Given the description of an element on the screen output the (x, y) to click on. 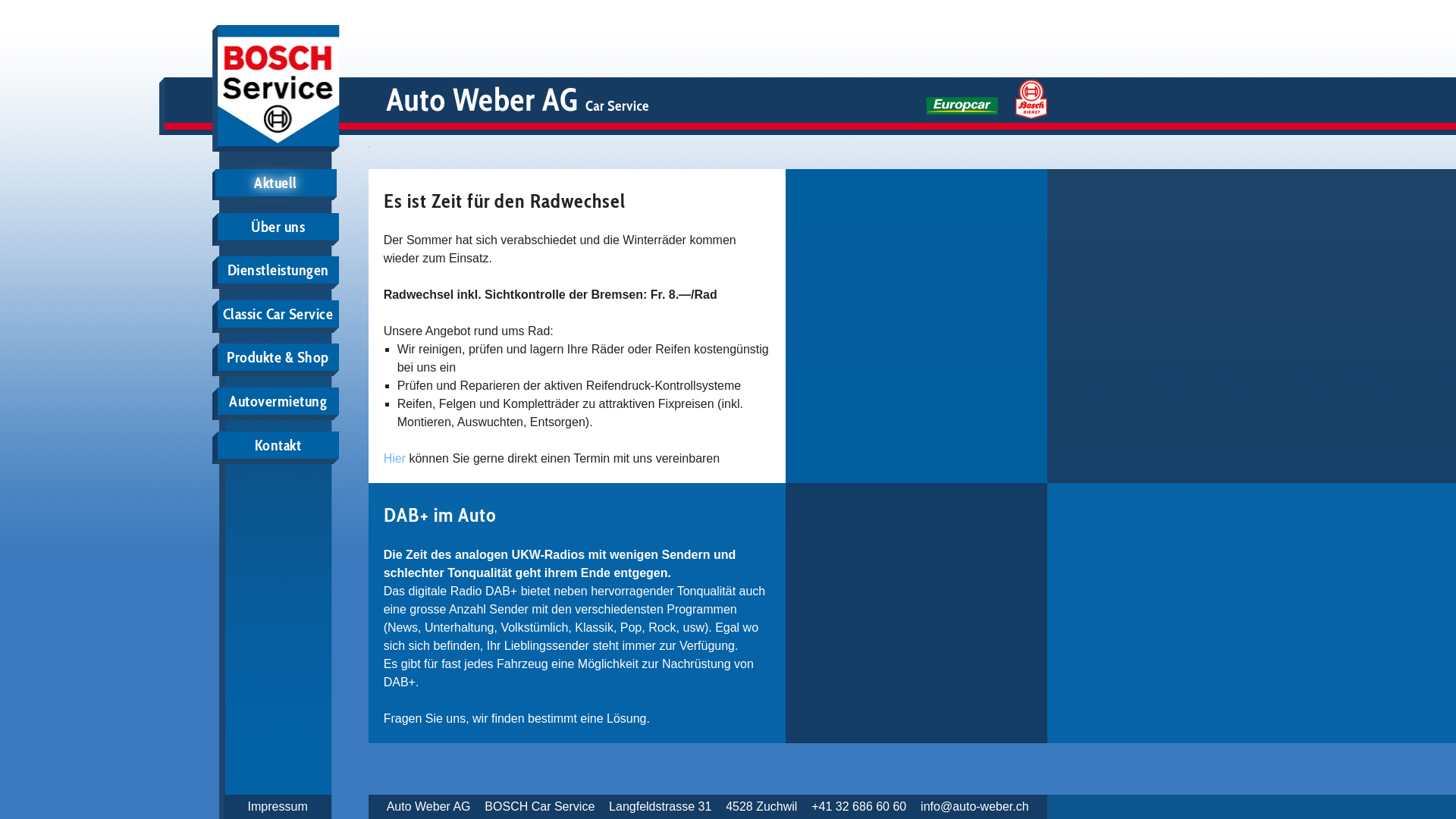
Classic Car Service Element type: text (277, 313)
info@auto-weber.ch Element type: text (974, 806)
Impressum Element type: text (277, 806)
Dienstleistungen Element type: text (277, 269)
Autovermietung Element type: text (277, 400)
Hier Element type: text (394, 457)
Aktuell Element type: text (275, 182)
Produkte & Shop Element type: text (277, 356)
Kontakt Element type: text (277, 444)
